Given the description of an element on the screen output the (x, y) to click on. 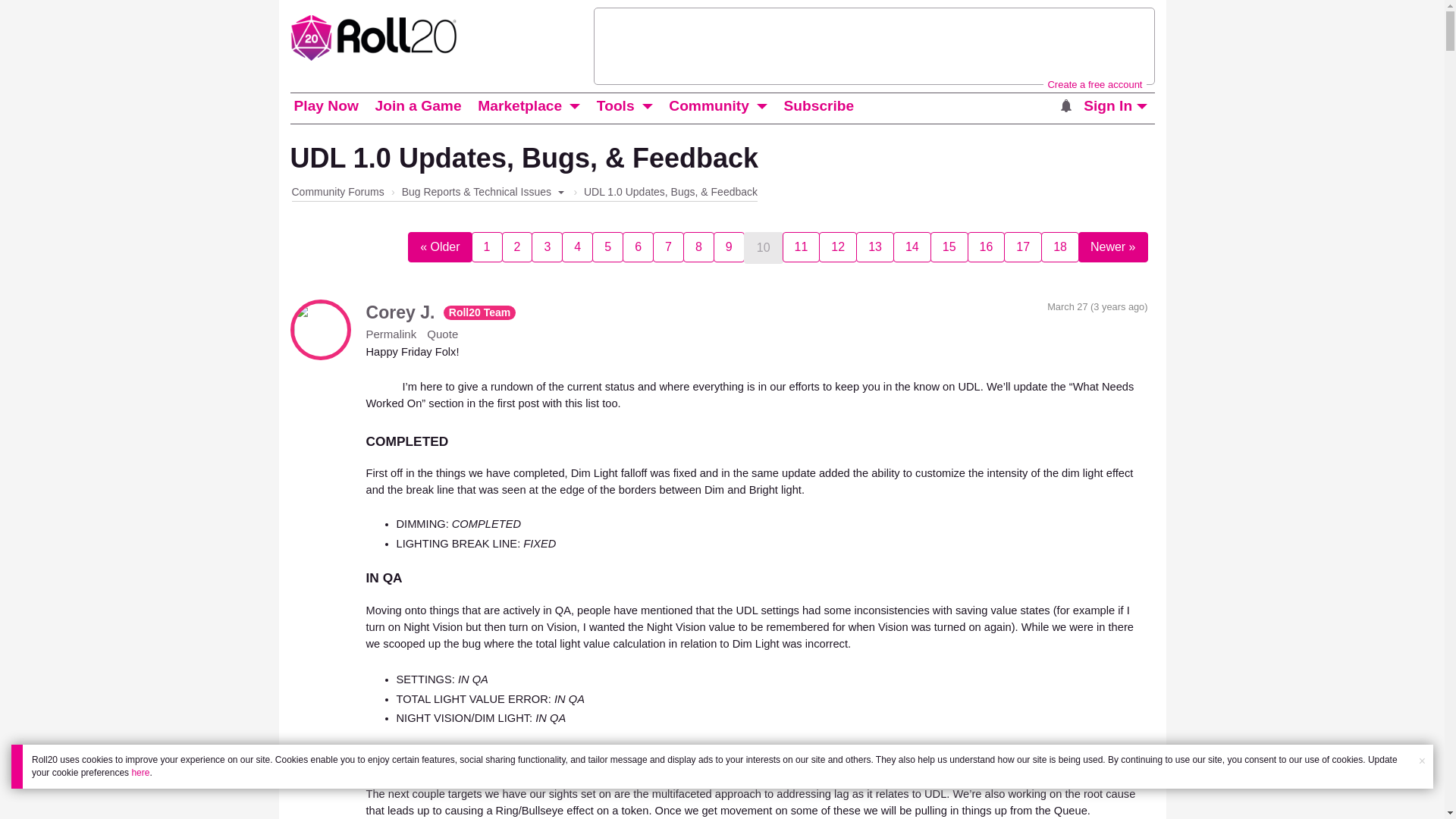
Play Now (325, 106)
Join a Game (417, 106)
here (140, 772)
Tools (615, 106)
Create a free account (1093, 84)
Marketplace (520, 106)
